Given the description of an element on the screen output the (x, y) to click on. 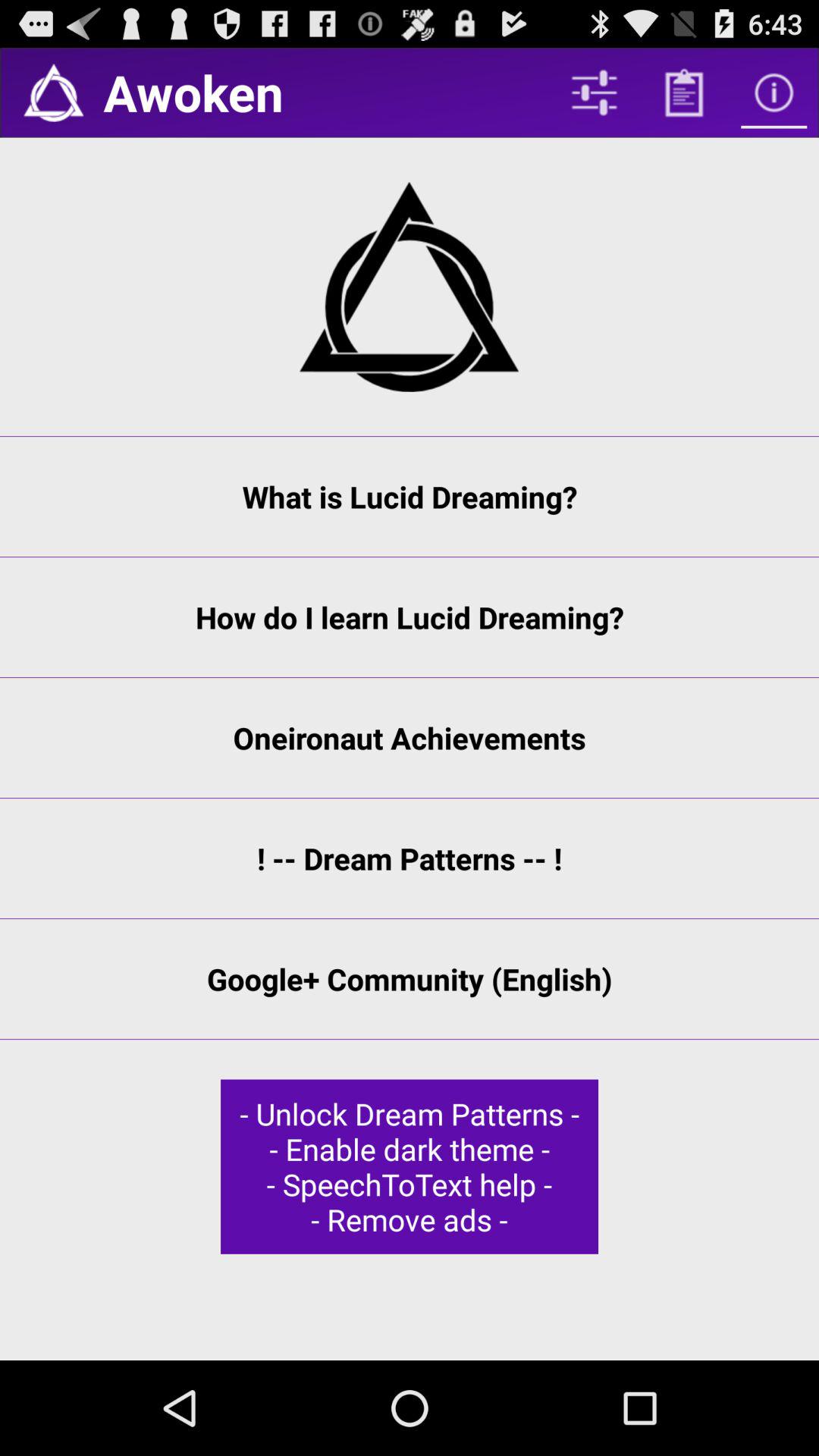
information button (774, 92)
